Given the description of an element on the screen output the (x, y) to click on. 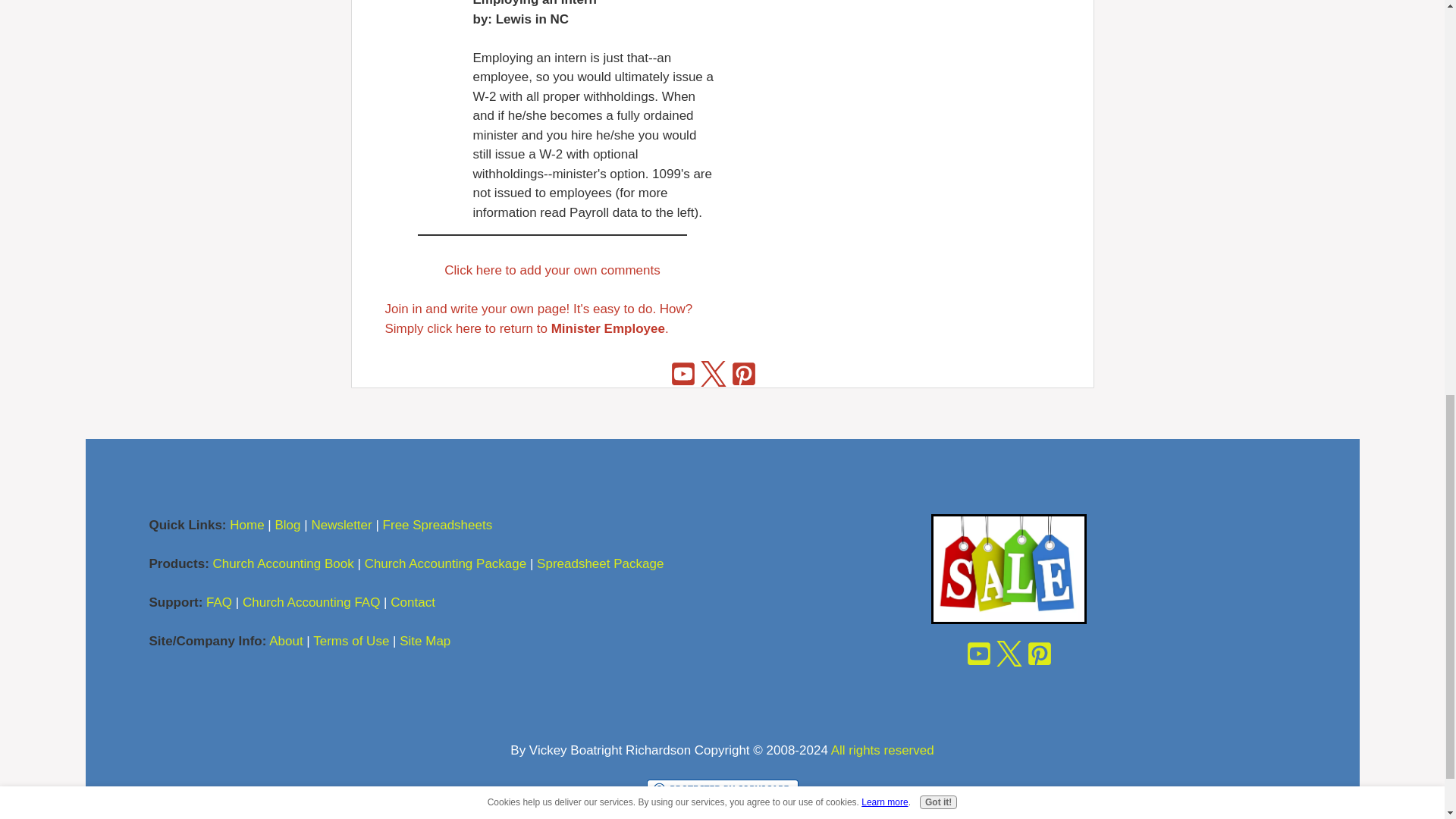
Follow us on X (1007, 653)
Subscribe to our YouTube Channel (977, 653)
Click here to add your own comments (551, 269)
Subscribe to our YouTube Channel (683, 372)
Church Accounting Package (446, 563)
Home (246, 524)
Church Accounting Book (282, 563)
Church Accounting FAQ (311, 602)
Visit us on Pinterest (743, 372)
Follow us on X (713, 372)
Free Spreadsheets  (439, 524)
Visit us on Pinterest (1038, 653)
Blog (287, 524)
Go to Church Accounting Package (1008, 619)
